Given the description of an element on the screen output the (x, y) to click on. 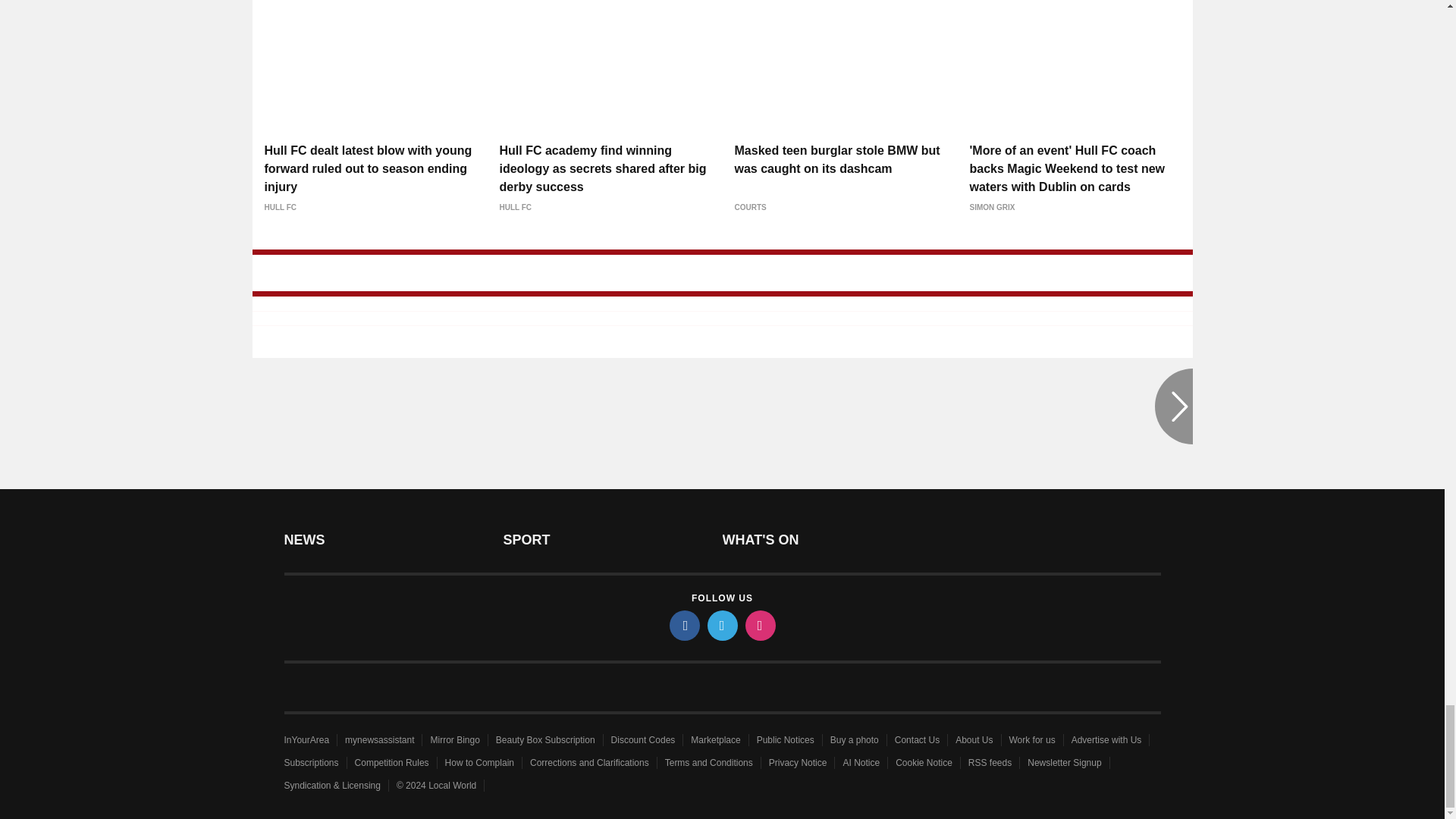
facebook (683, 625)
twitter (721, 625)
instagram (759, 625)
